Given the description of an element on the screen output the (x, y) to click on. 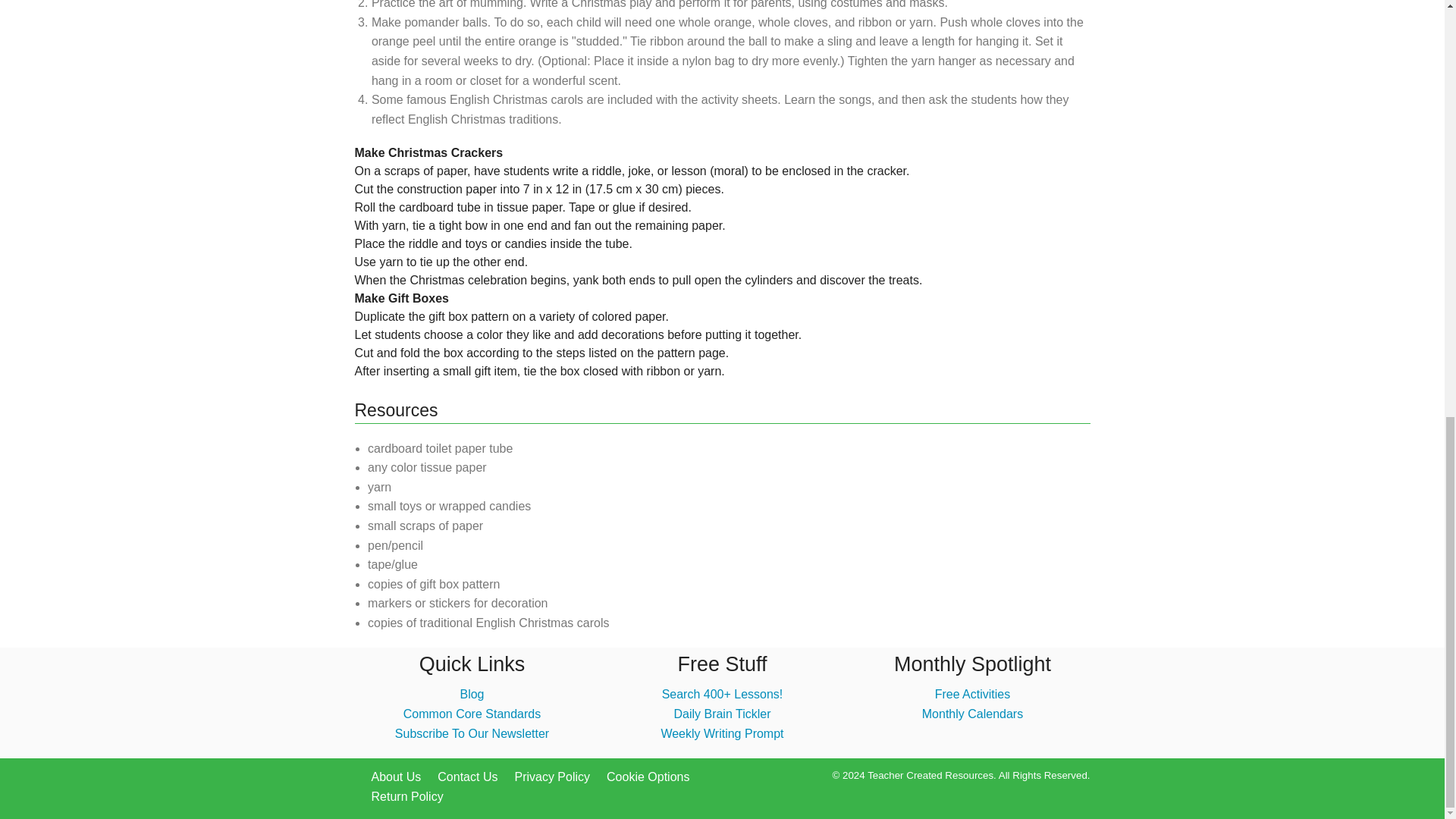
Common Core Standards (471, 713)
Subscribe To Our Newsletter (471, 733)
Company Info (396, 777)
Monthly Calendars (972, 713)
Weekly Writing Prompt (722, 733)
Cookie Options (647, 777)
Free Activities (972, 694)
Blog (471, 694)
Return Policy (407, 796)
Return Policy (407, 796)
Cookie Options (647, 777)
Contact Us (467, 777)
Privacy Policy (551, 777)
Privacy Policy (551, 777)
About Us (396, 777)
